Given the description of an element on the screen output the (x, y) to click on. 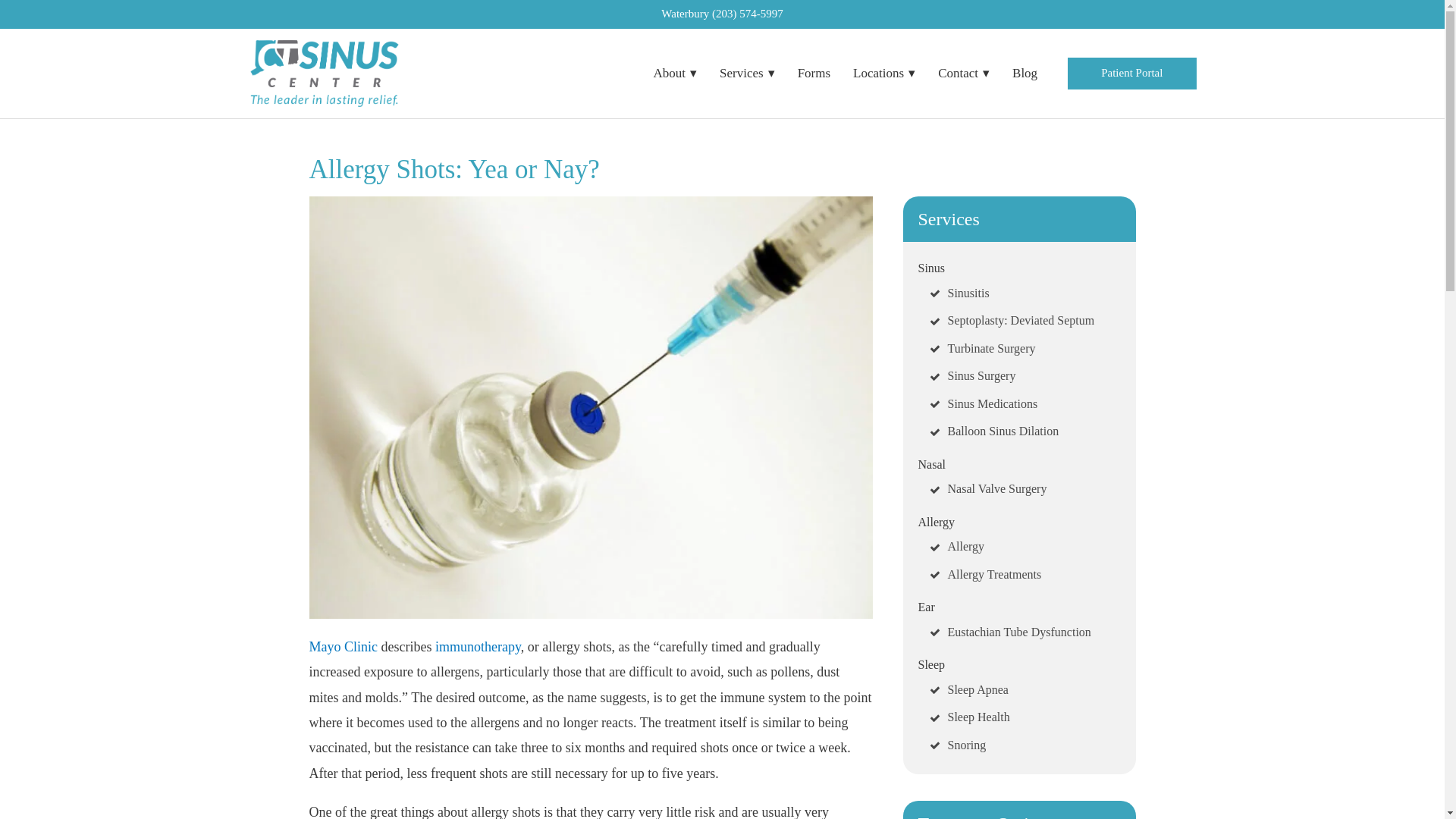
About (675, 73)
Forms (813, 73)
Contact (963, 73)
Patient Portal (1131, 73)
Blog (1024, 73)
Services (746, 73)
Locations (883, 73)
Mayo Clinic (343, 646)
